Given the description of an element on the screen output the (x, y) to click on. 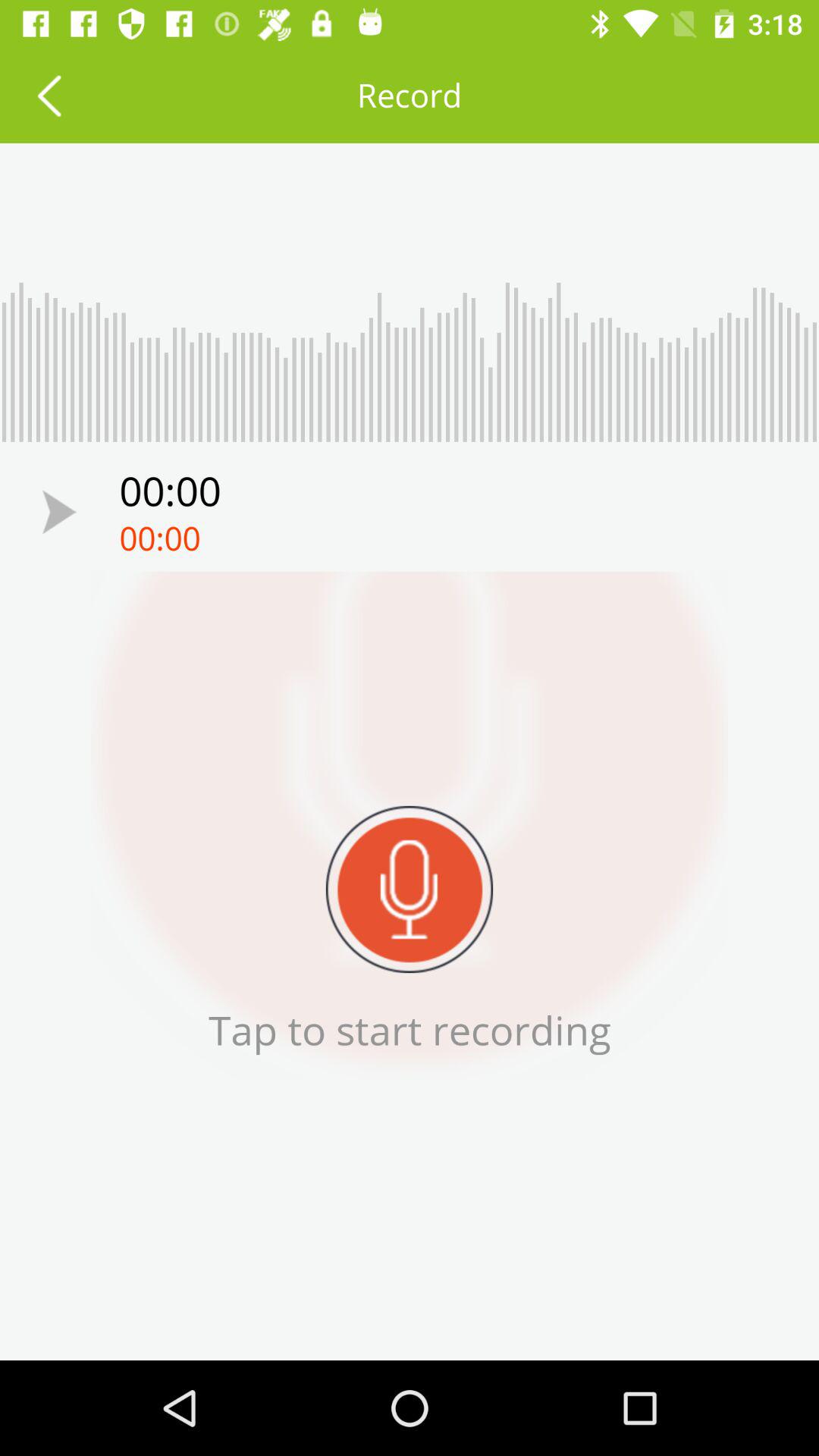
launch the item above tap to start item (409, 889)
